Given the description of an element on the screen output the (x, y) to click on. 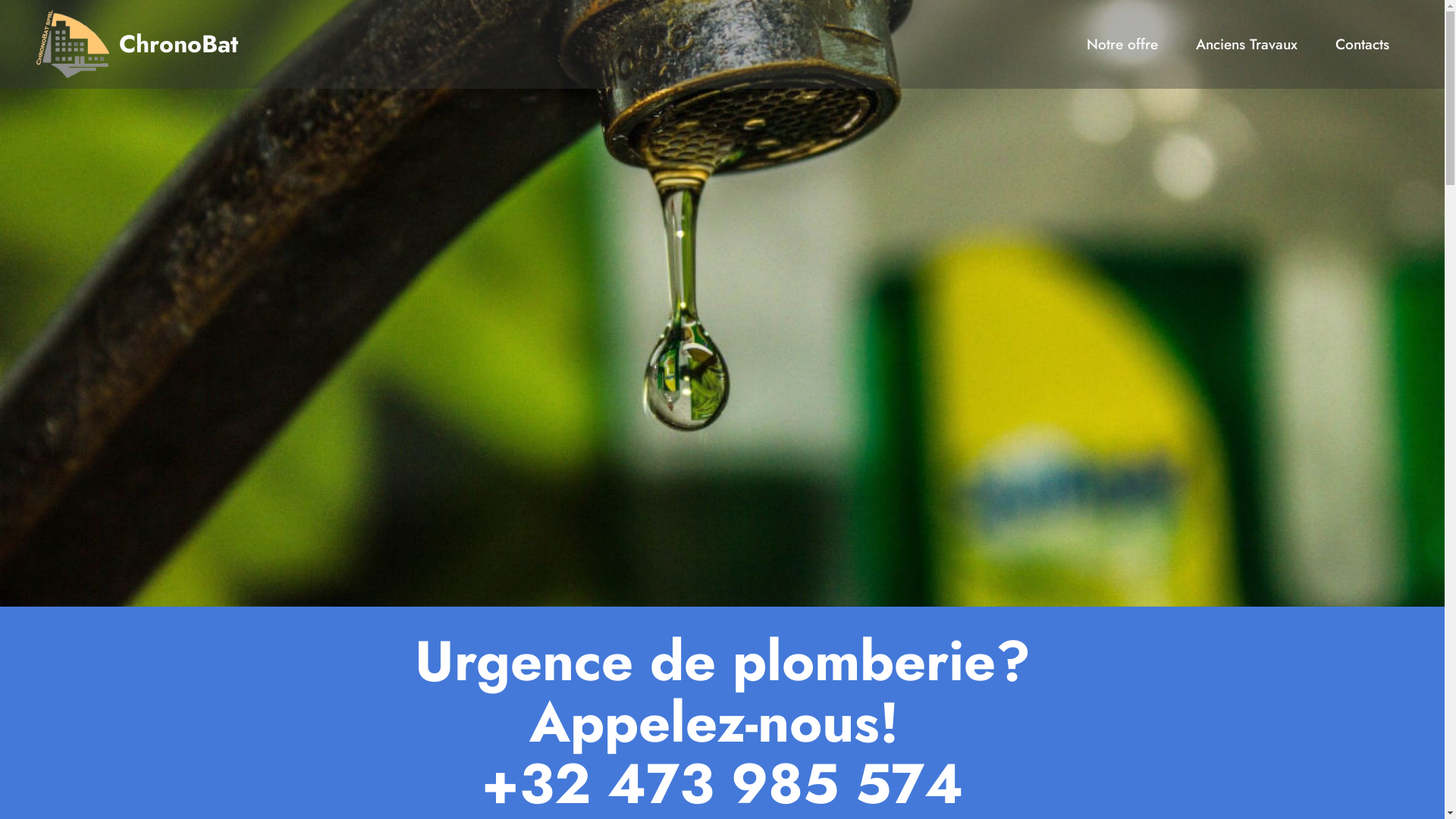
Contacts Element type: text (1361, 44)
Notre offre Element type: text (1122, 44)
Anciens Travaux Element type: text (1246, 44)
ChronoBat Element type: text (178, 43)
